Given the description of an element on the screen output the (x, y) to click on. 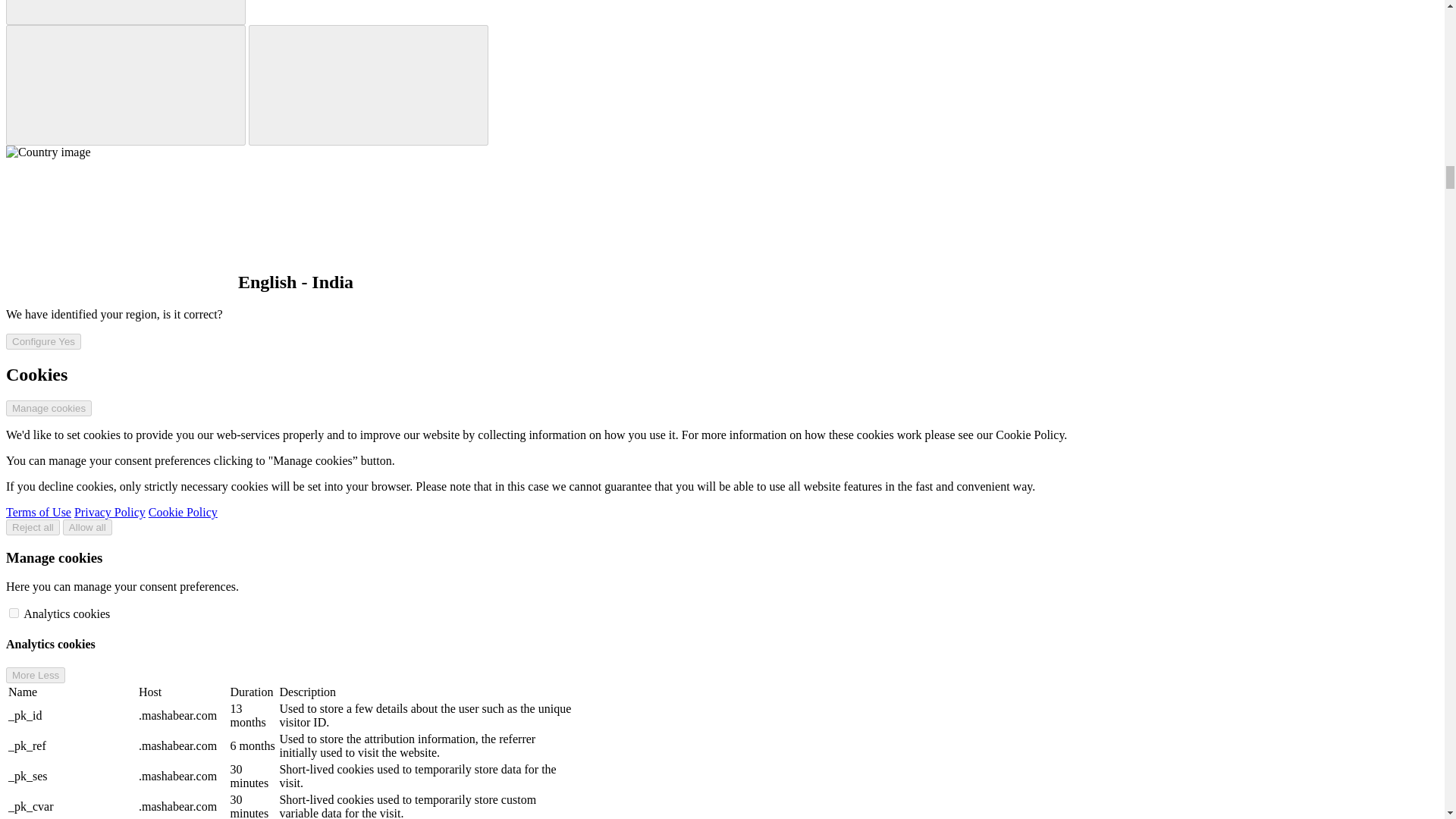
on (13, 613)
